Given the description of an element on the screen output the (x, y) to click on. 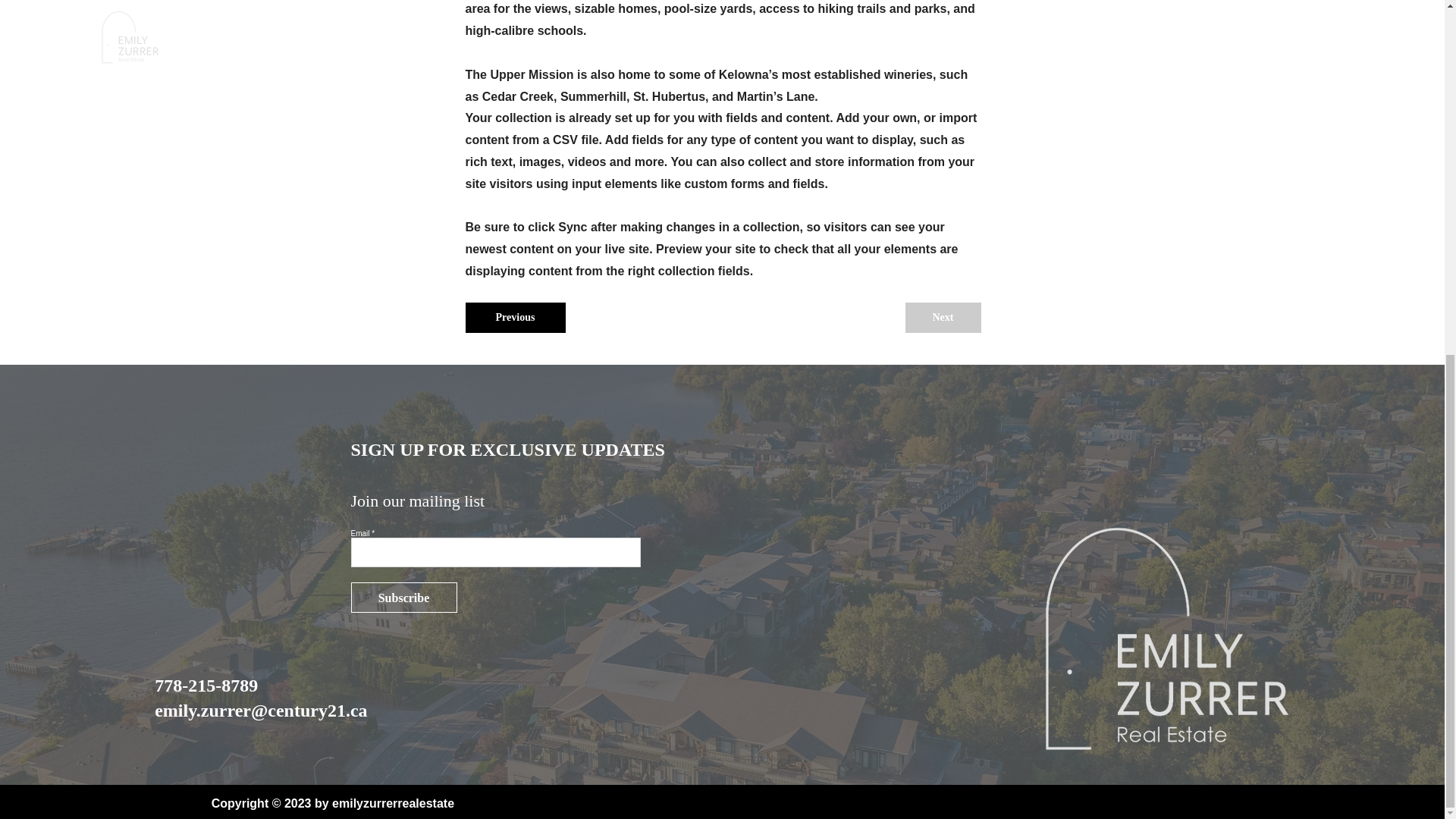
Next (943, 317)
Previous (515, 317)
Subscribe (403, 597)
